Given the description of an element on the screen output the (x, y) to click on. 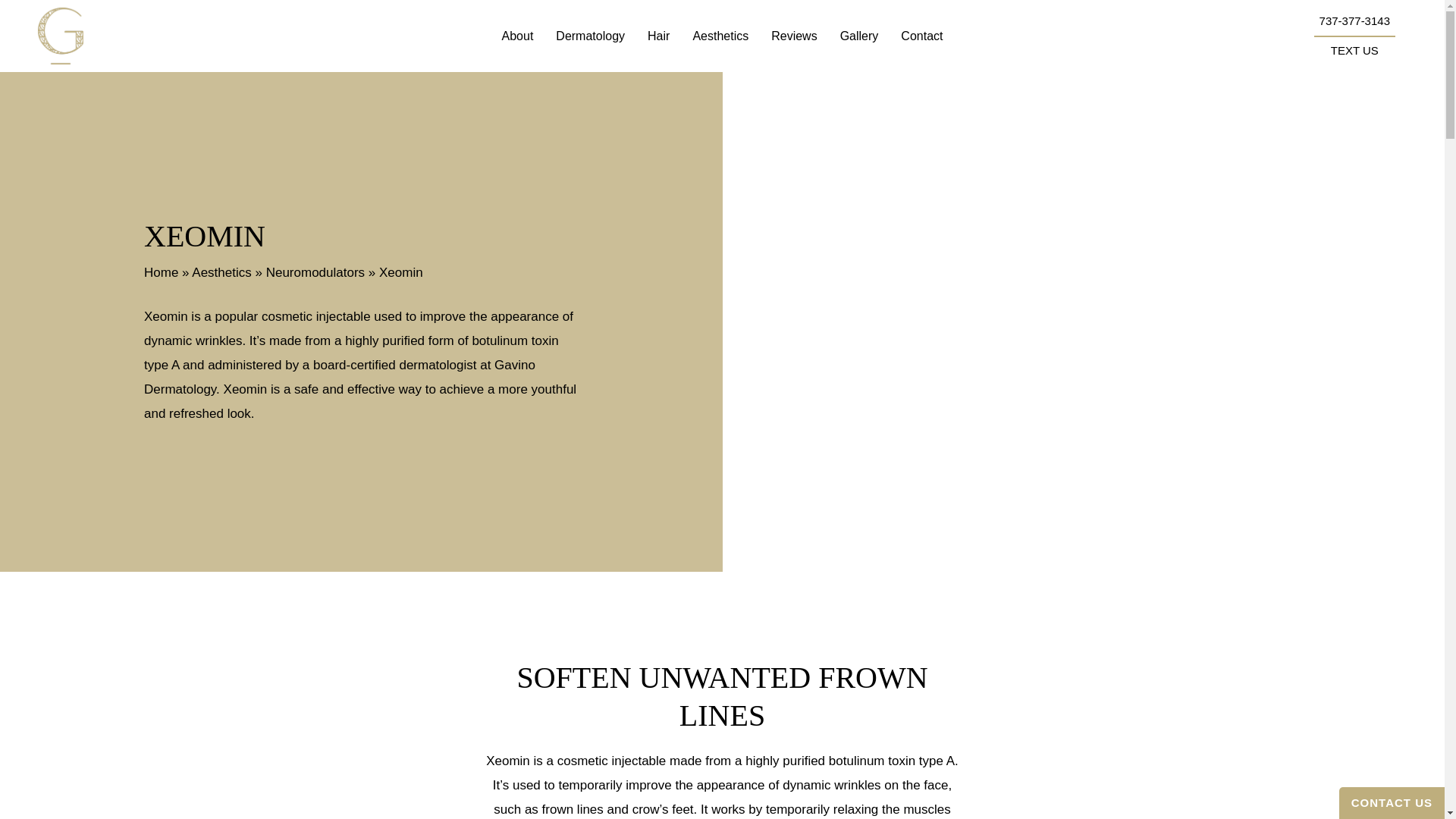
Hair (658, 36)
Gallery (858, 36)
Aesthetics (720, 36)
Dermatology (590, 36)
About (517, 36)
Reviews (794, 36)
